Given the description of an element on the screen output the (x, y) to click on. 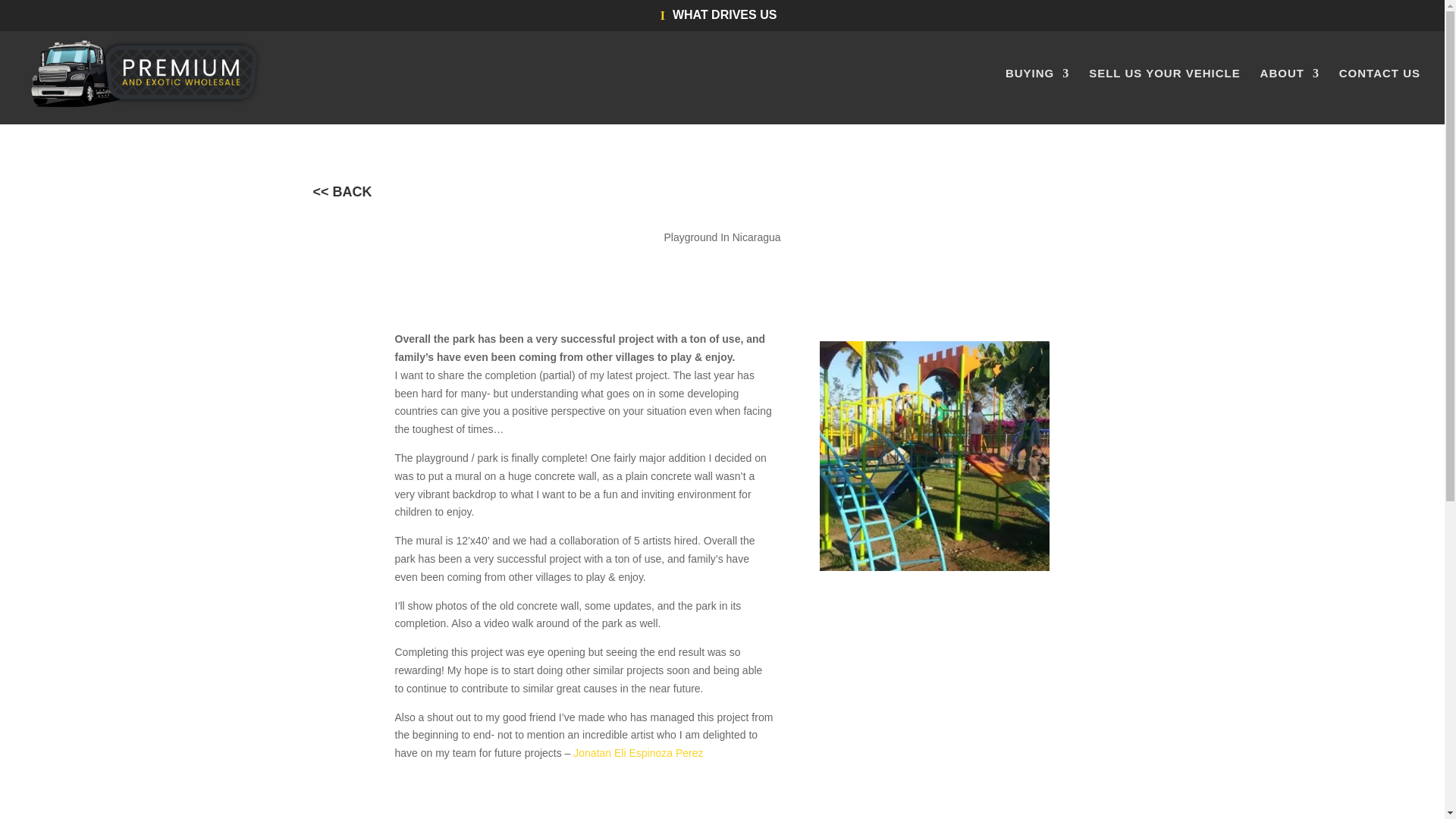
WHAT DRIVES US (722, 20)
Jonatan Eli Espinoza Perez (638, 752)
SELL US YOUR VEHICLE (1164, 95)
BUYING (1037, 95)
CONTACT US (1380, 95)
ABOUT (1289, 95)
